Given the description of an element on the screen output the (x, y) to click on. 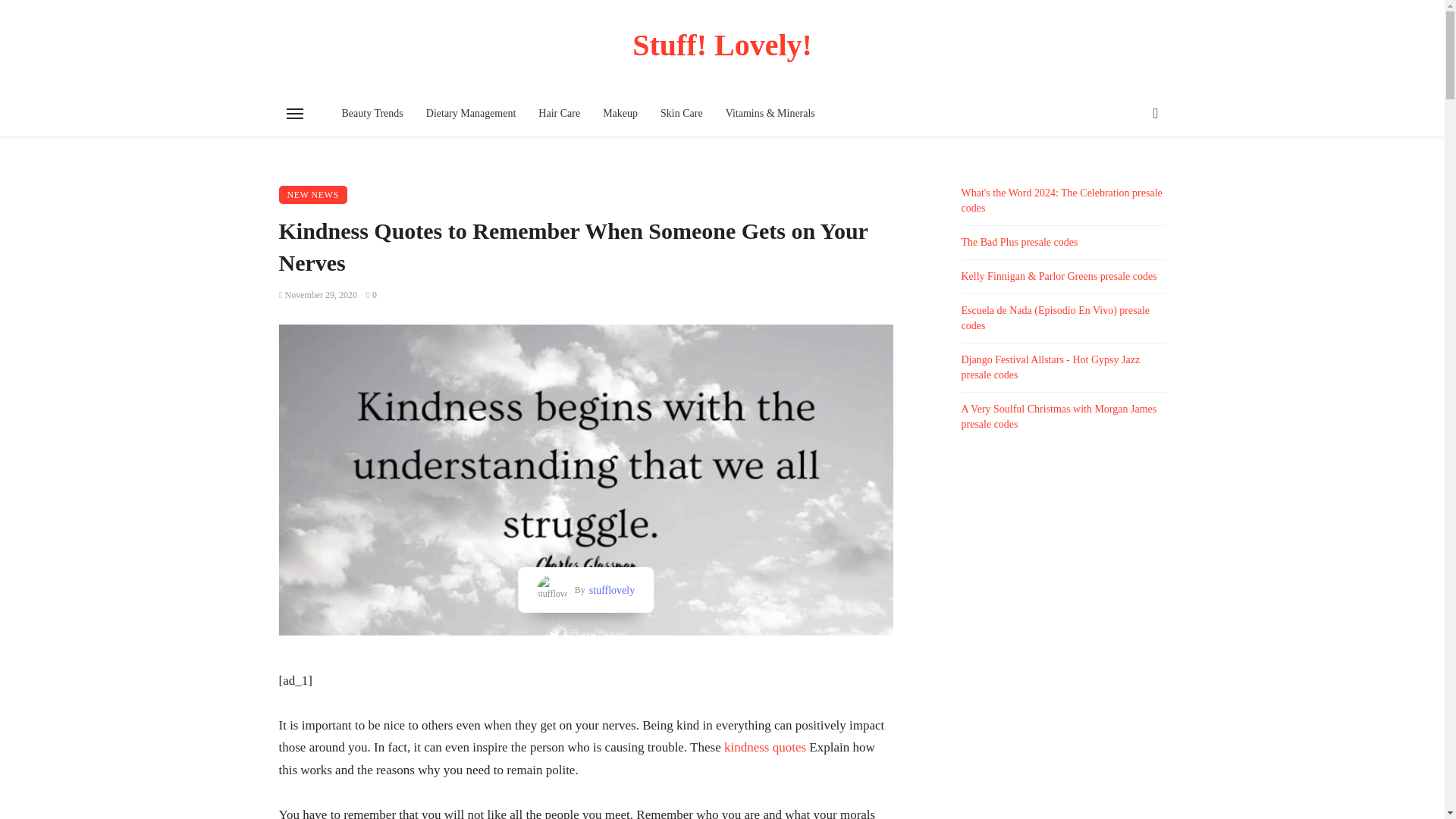
Skin Care (681, 113)
Hair Care (559, 113)
Dietary Management (470, 113)
stufflovely (609, 590)
0 Comments (371, 294)
Posts by stufflovely (609, 590)
Makeup (620, 113)
Stuff! Lovely! (722, 45)
Beauty Trends (372, 113)
NEW NEWS (313, 194)
